Given the description of an element on the screen output the (x, y) to click on. 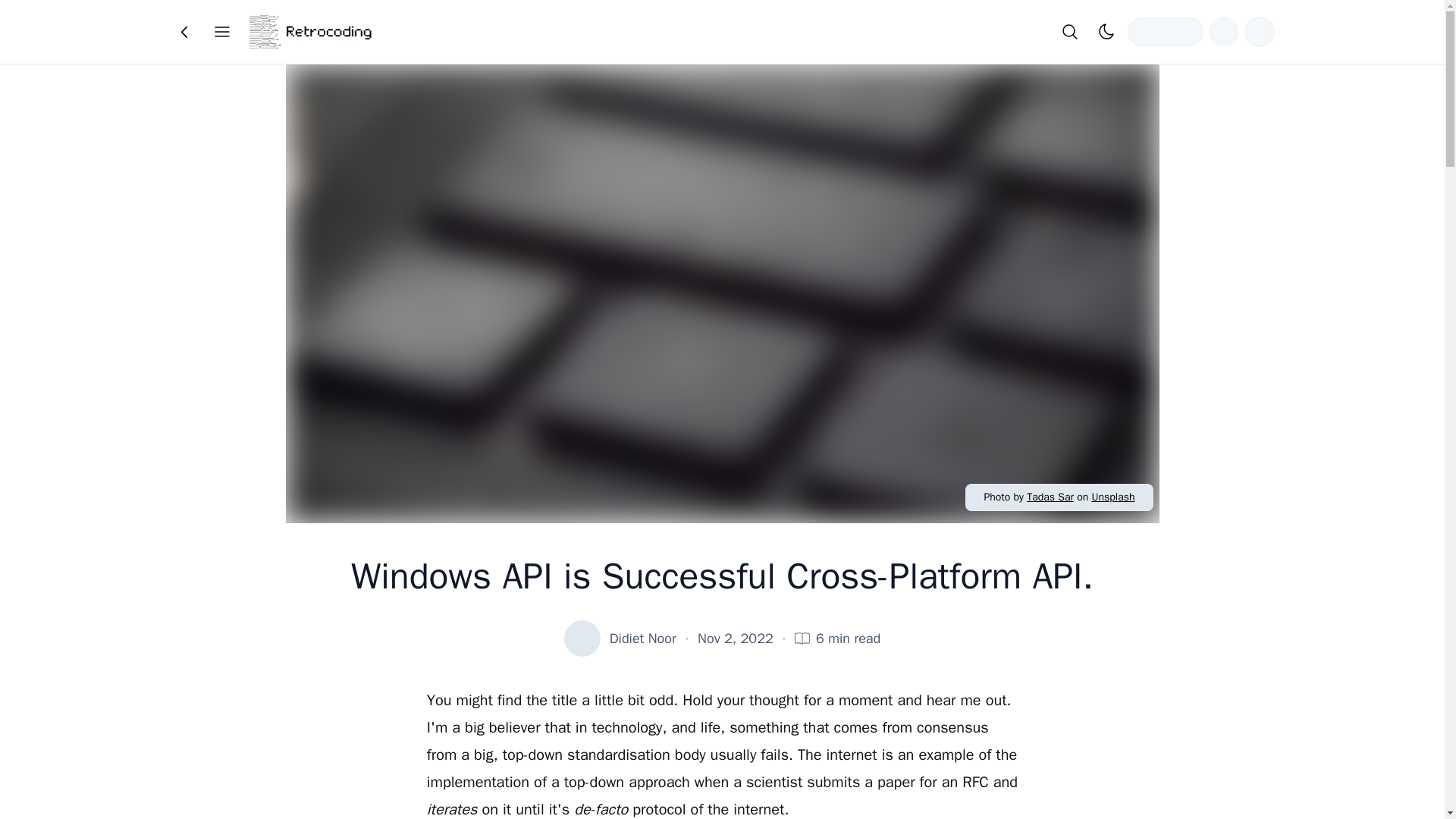
Unsplash (1112, 496)
Didiet Noor (643, 638)
Nov 2, 2022 (735, 638)
Tadas Sar (1050, 496)
